Given the description of an element on the screen output the (x, y) to click on. 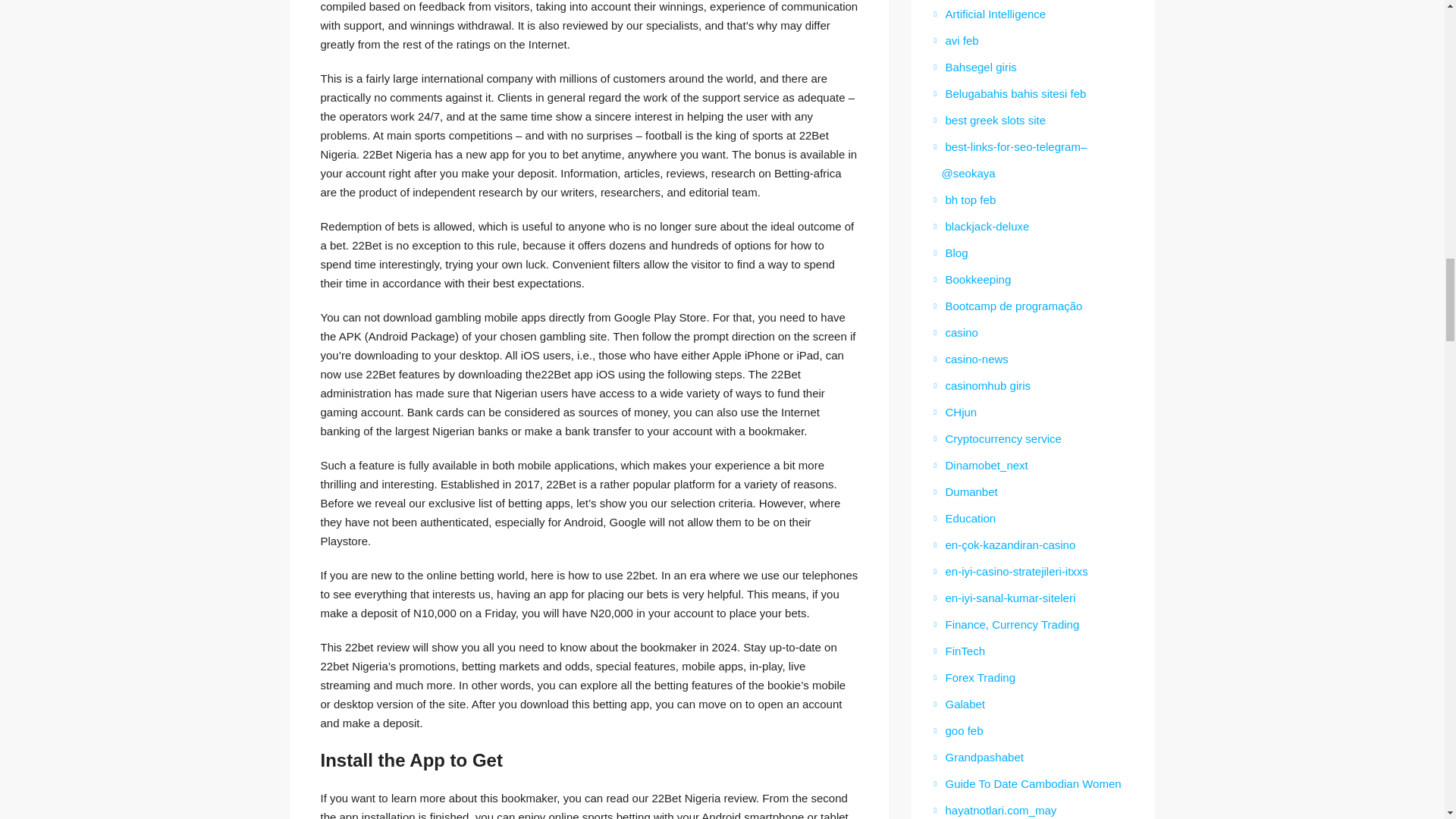
Finance, Currency Trading (1007, 624)
